Given the description of an element on the screen output the (x, y) to click on. 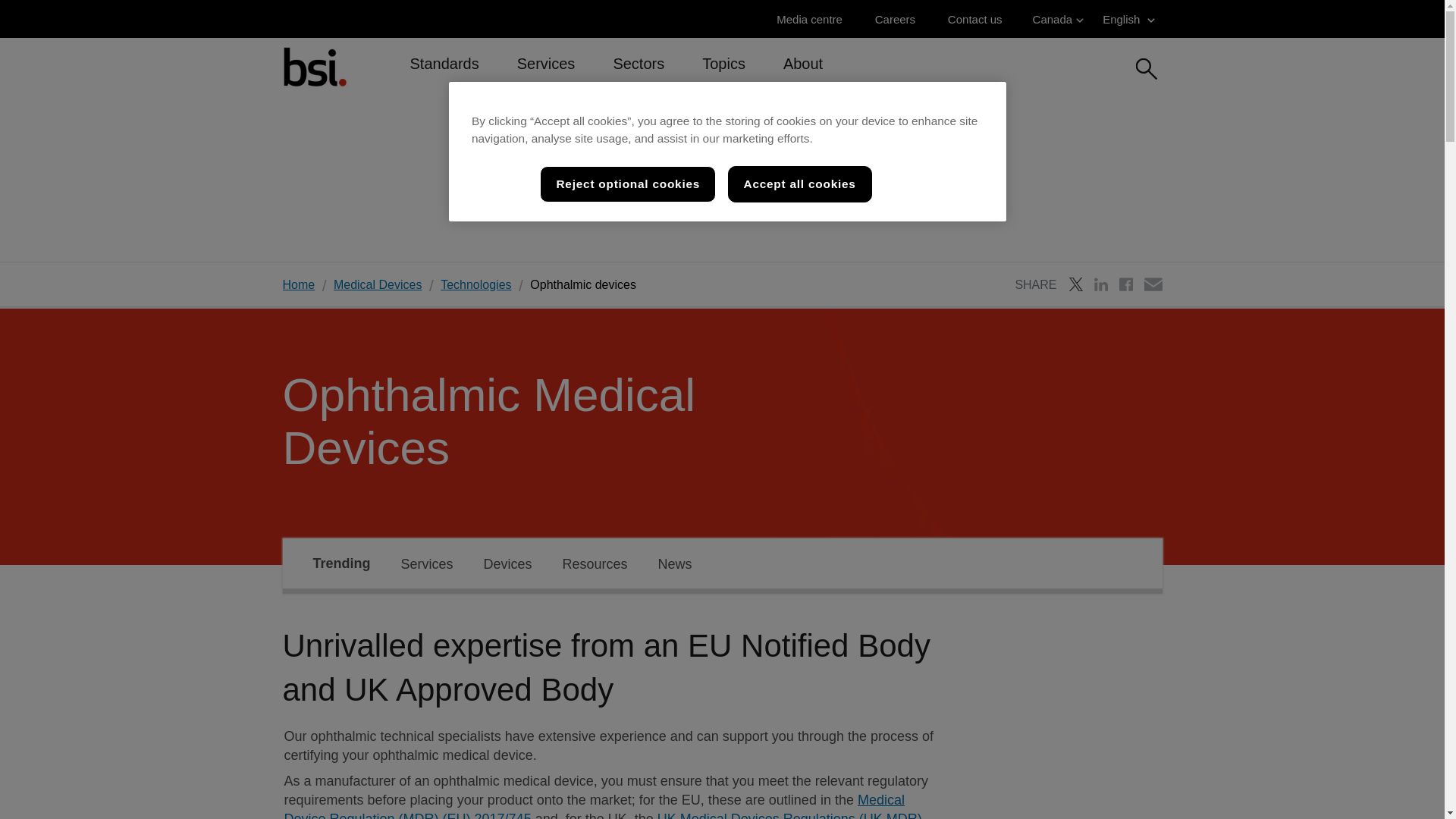
Contact us (978, 19)
Contact us (978, 19)
Careers (899, 19)
Standards (444, 70)
Media centre (813, 19)
Media centre (813, 19)
Careers (899, 19)
logo (314, 65)
English (1130, 19)
Canada (1058, 19)
